Given the description of an element on the screen output the (x, y) to click on. 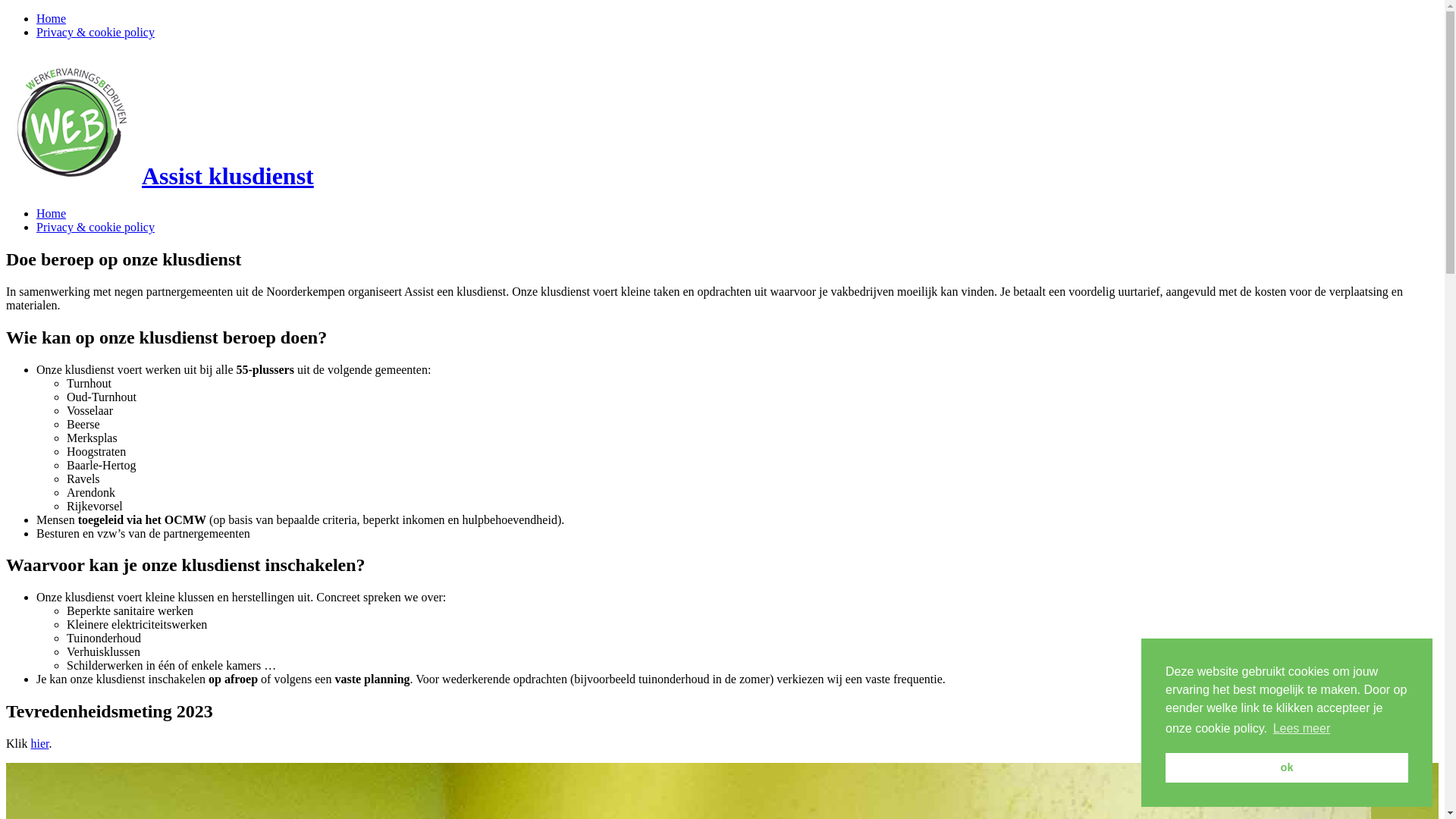
hier Element type: text (39, 743)
ok Element type: text (1286, 767)
Lees meer Element type: text (1301, 728)
Home Element type: text (50, 213)
Privacy & cookie policy Element type: text (95, 226)
Privacy & cookie policy Element type: text (95, 31)
Home Element type: text (50, 18)
Assist klusdienst Element type: text (159, 175)
